Given the description of an element on the screen output the (x, y) to click on. 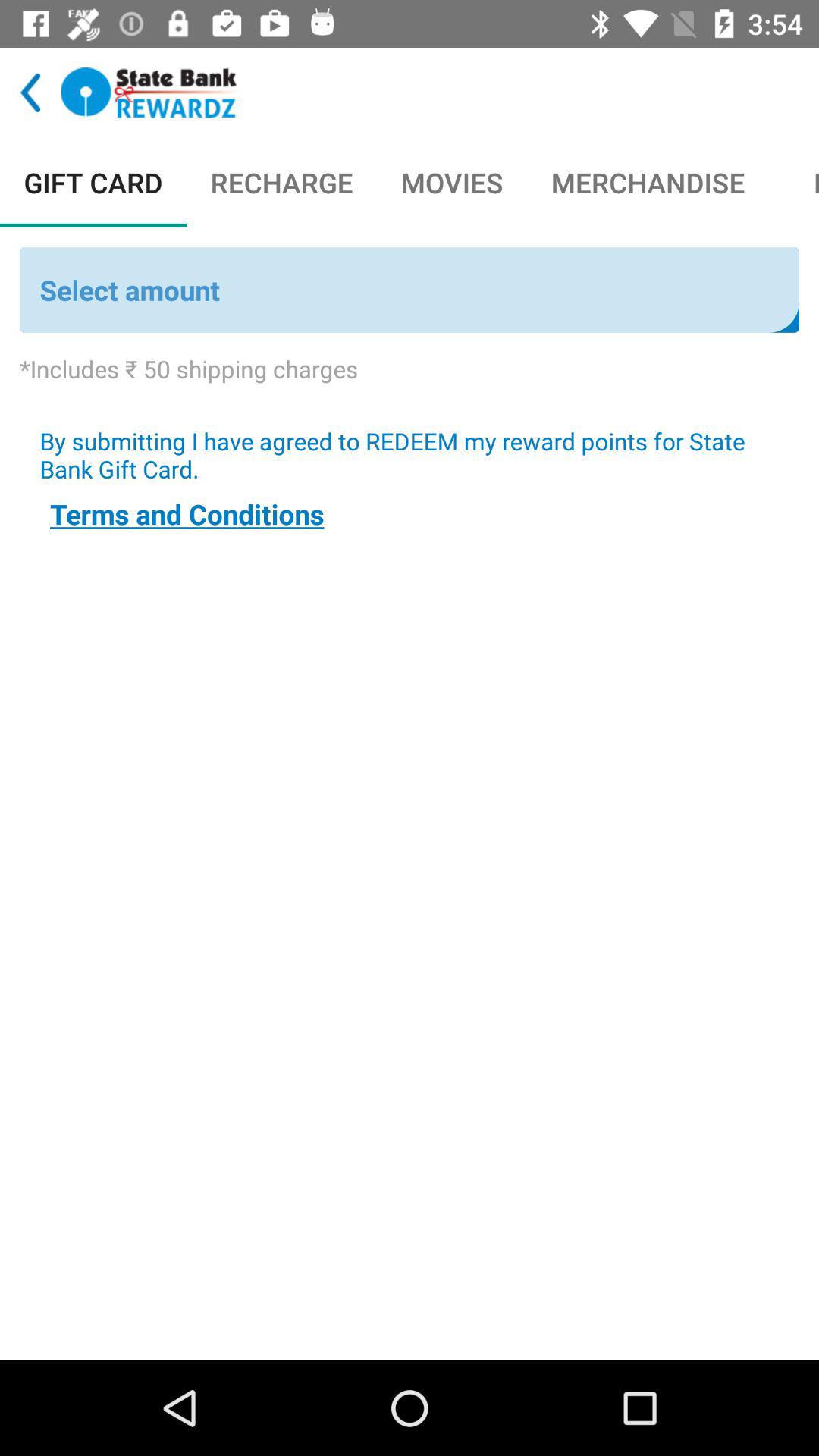
go to the previous screen (30, 92)
